Given the description of an element on the screen output the (x, y) to click on. 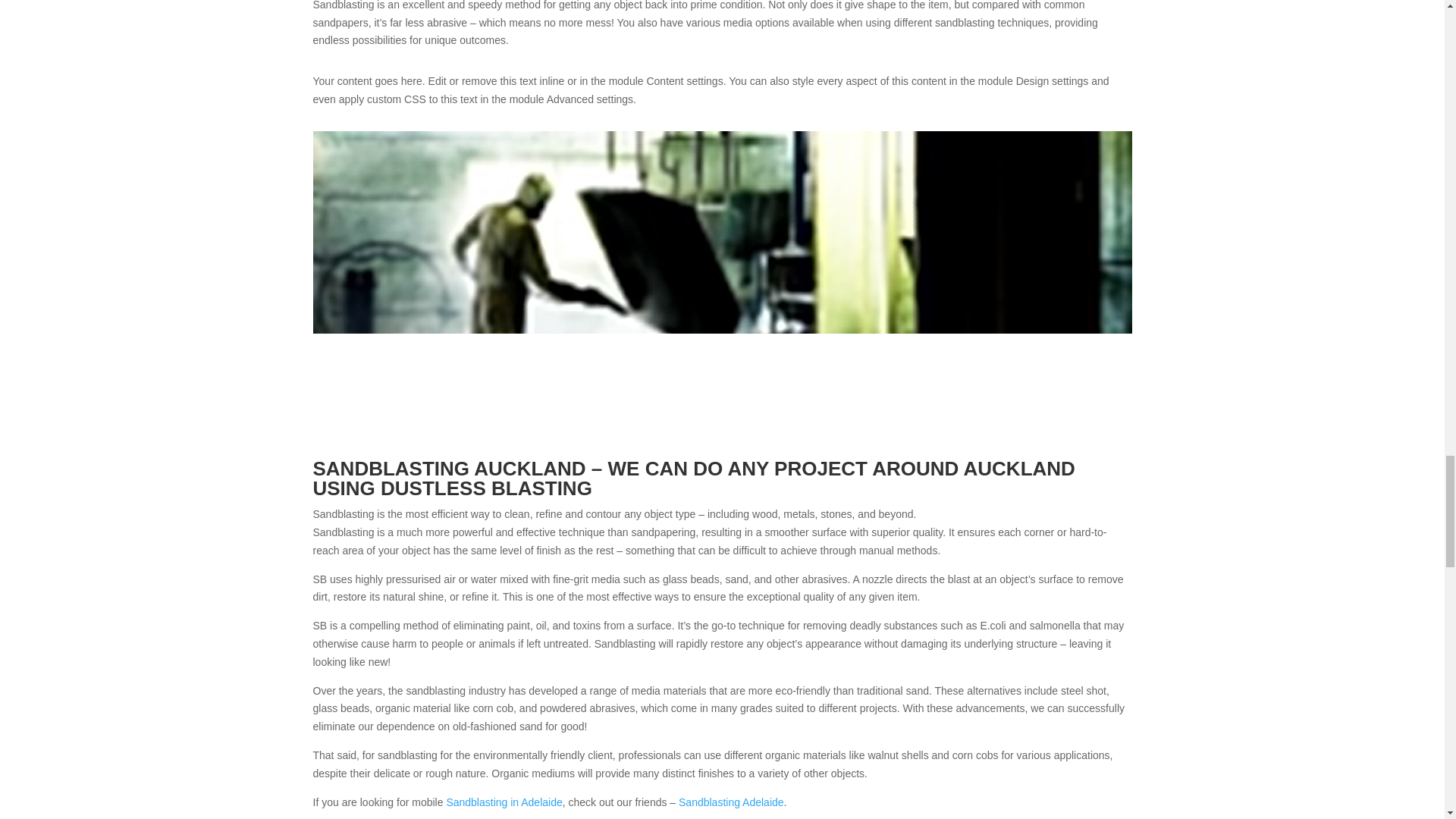
Sandblasting in Adelaide (503, 802)
Sandblasting Adelaide (731, 802)
